Given the description of an element on the screen output the (x, y) to click on. 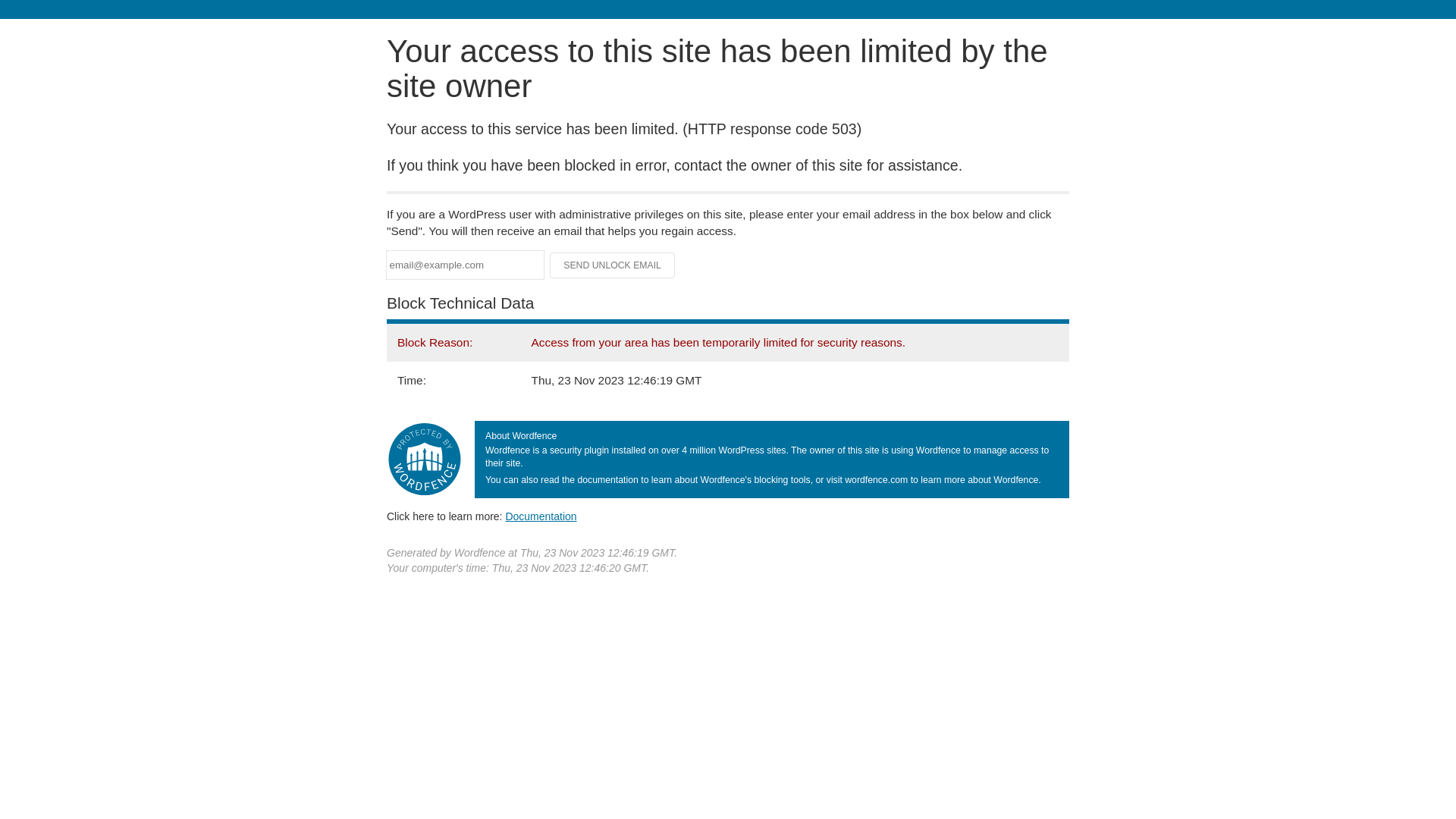
Documentation Element type: text (540, 516)
Send Unlock Email Element type: text (612, 265)
